Given the description of an element on the screen output the (x, y) to click on. 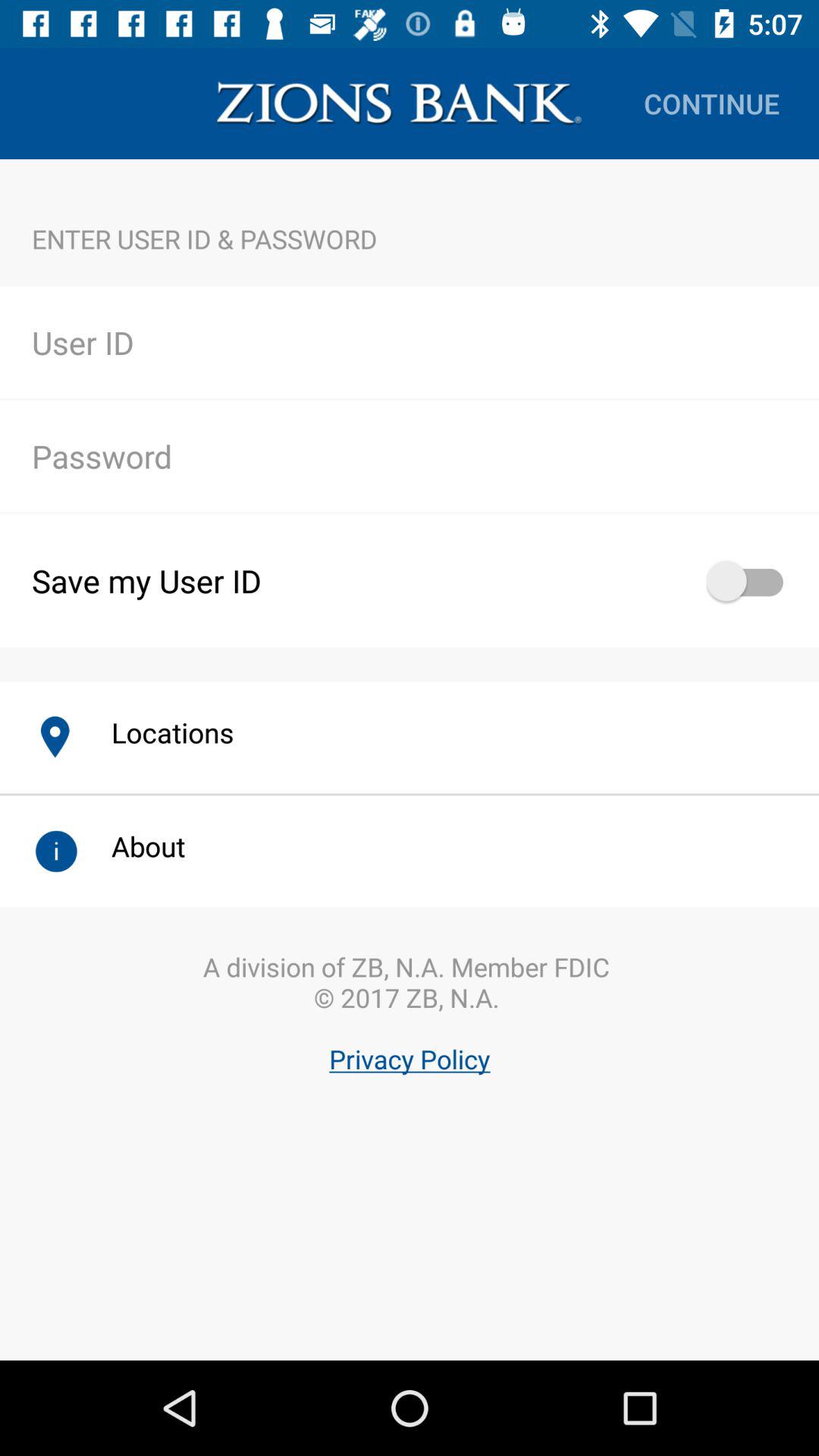
launch icon below save my user item (156, 732)
